Given the description of an element on the screen output the (x, y) to click on. 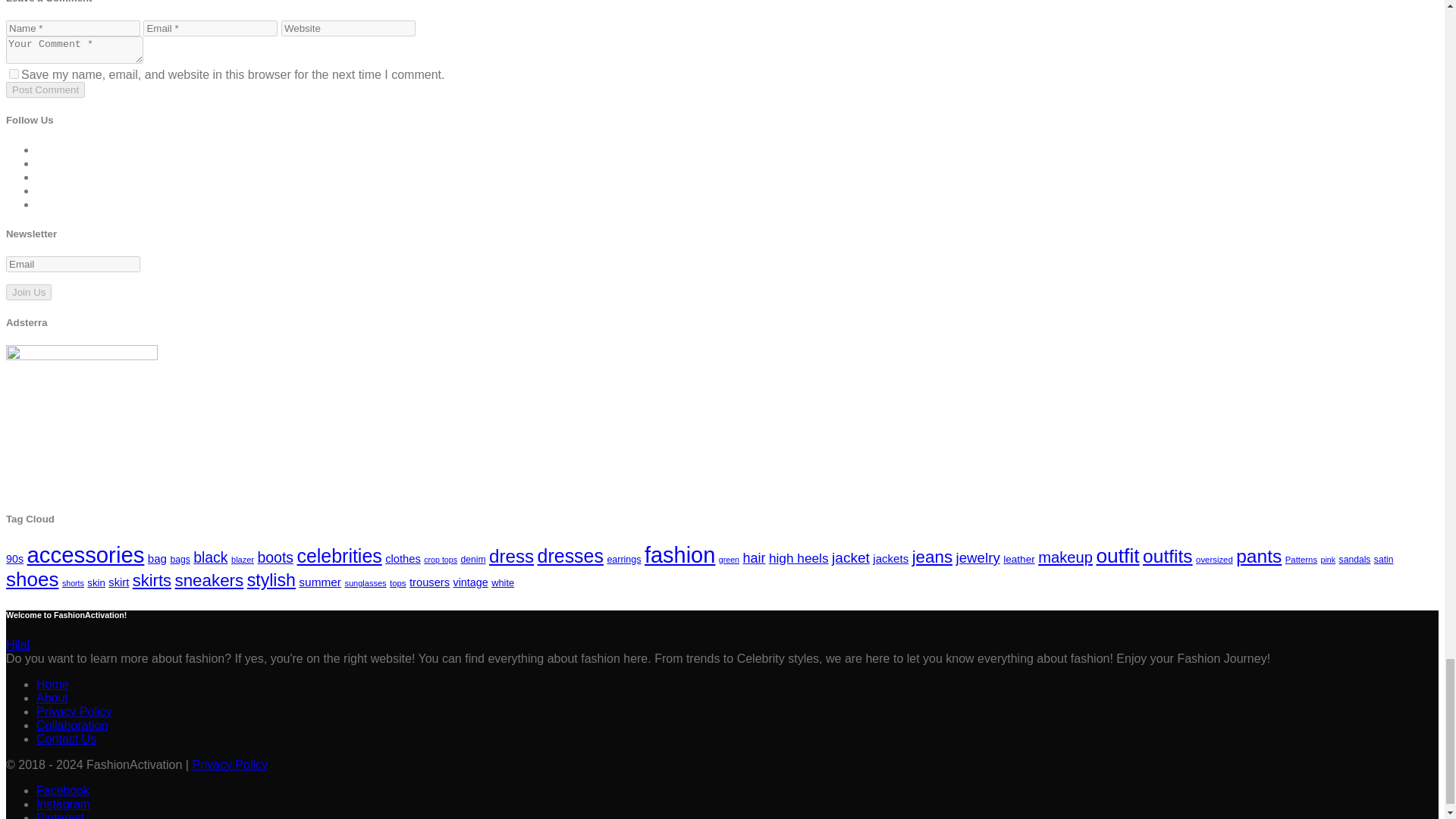
Join Us (27, 292)
Post Comment (44, 89)
yes (13, 73)
Adsterra (81, 420)
